Given the description of an element on the screen output the (x, y) to click on. 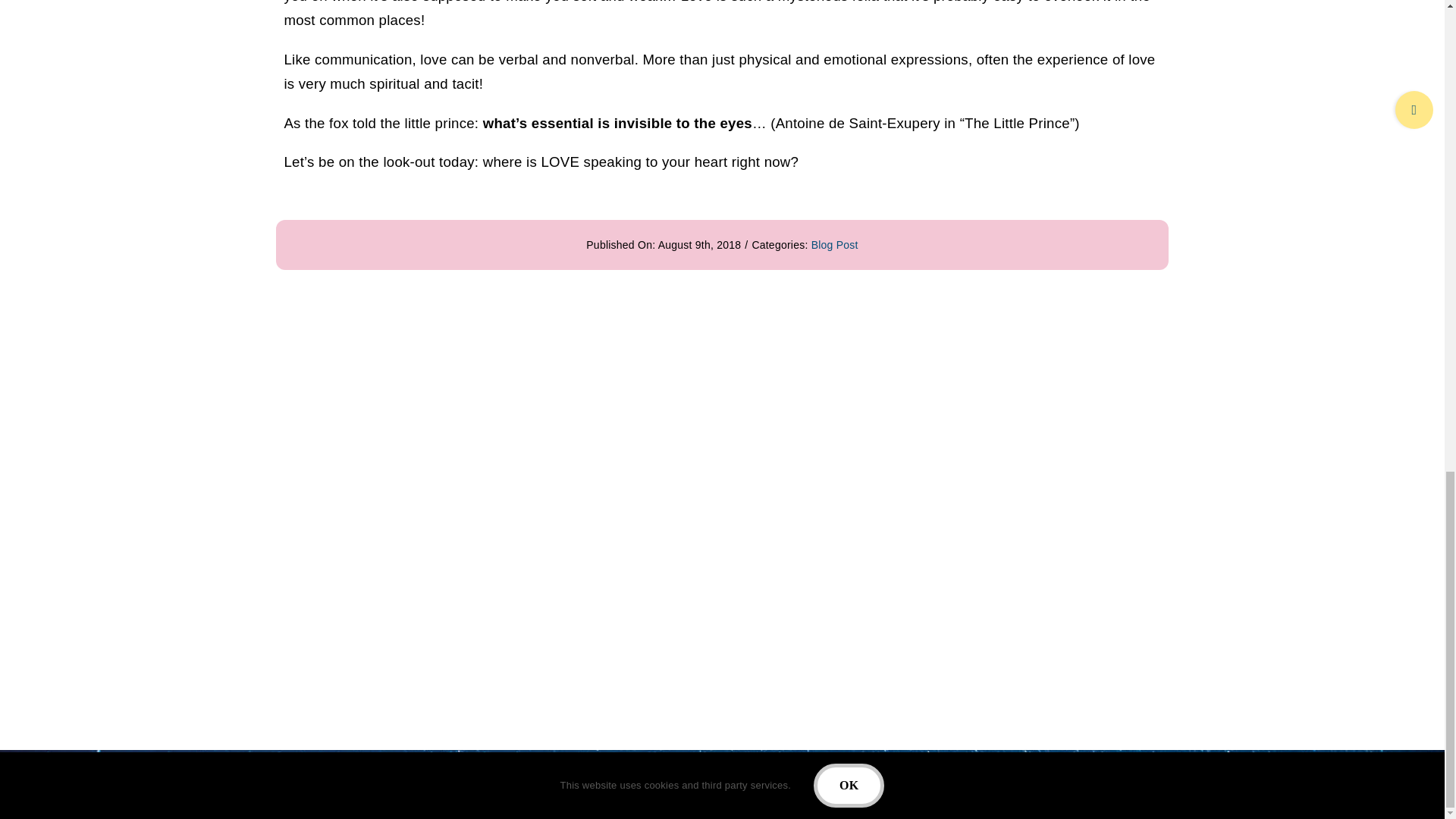
Blog Post (834, 244)
